Given the description of an element on the screen output the (x, y) to click on. 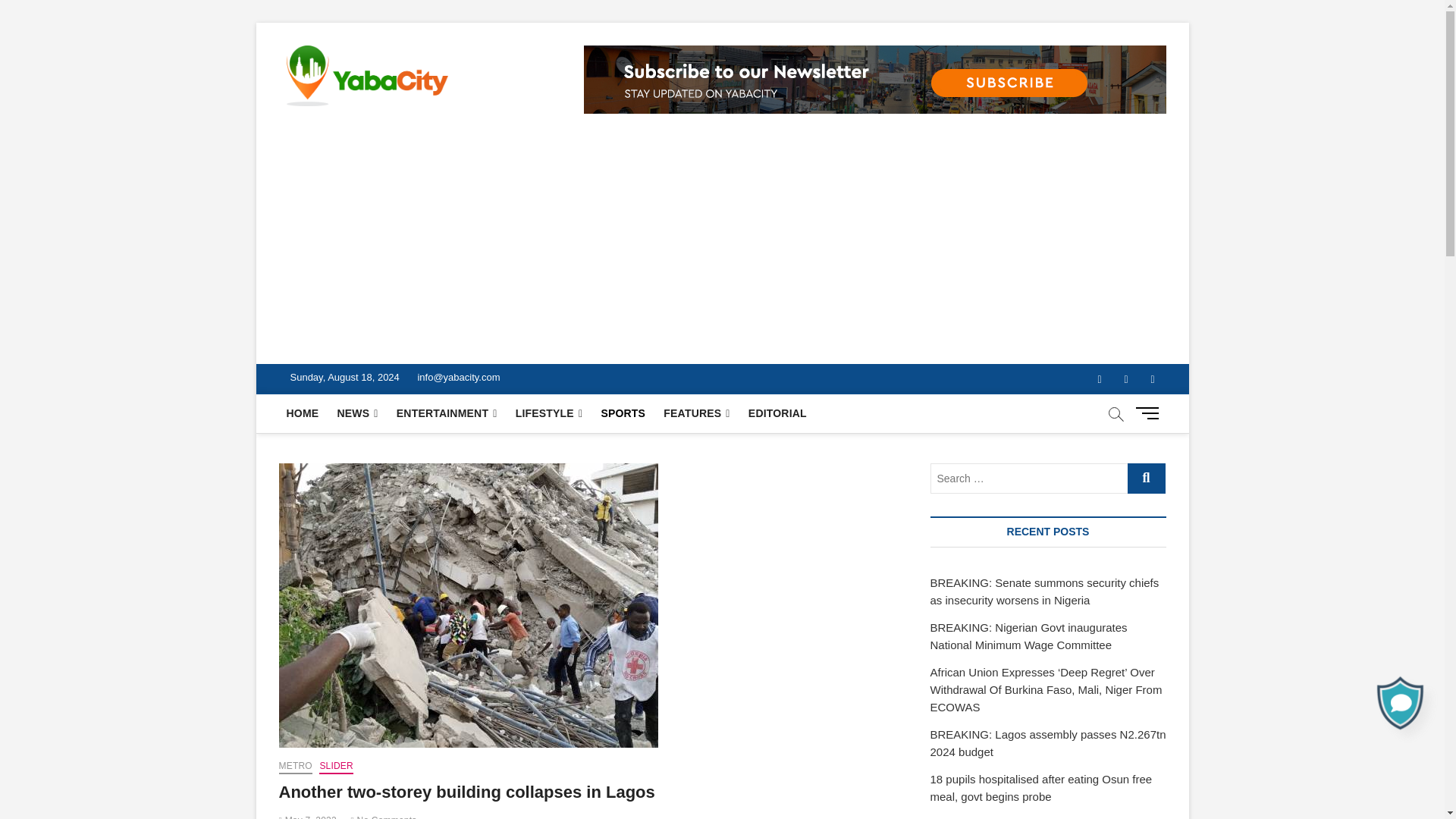
instagram (1152, 379)
YabaCity (502, 73)
Menu Button (1150, 412)
YabaCity (502, 73)
LIFESTYLE (549, 413)
twitter (1126, 379)
HOME (302, 412)
ENTERTAINMENT (446, 413)
